Given the description of an element on the screen output the (x, y) to click on. 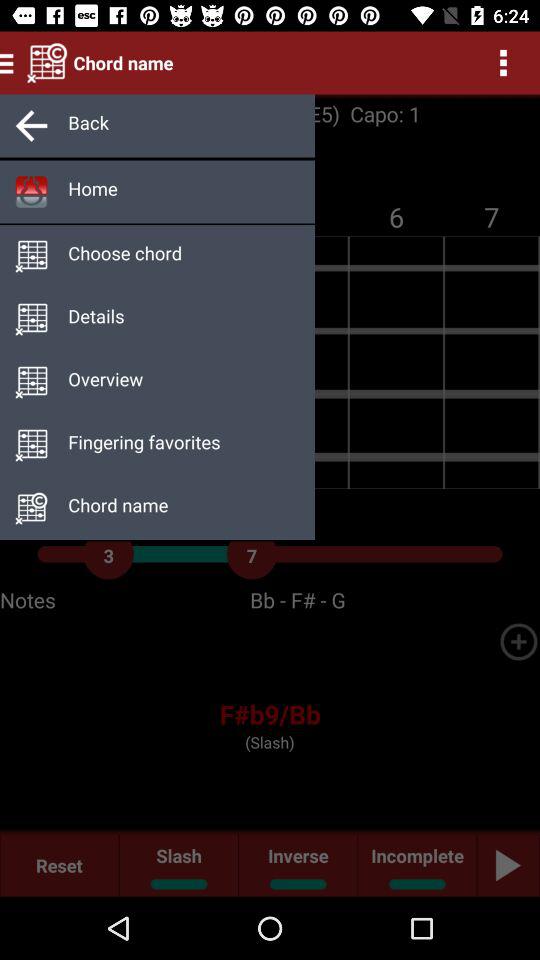
go to left of sixth option (31, 445)
select add icon at the right side of the page (518, 642)
select option inverse which is at the bottom of the page (298, 865)
